Given the description of an element on the screen output the (x, y) to click on. 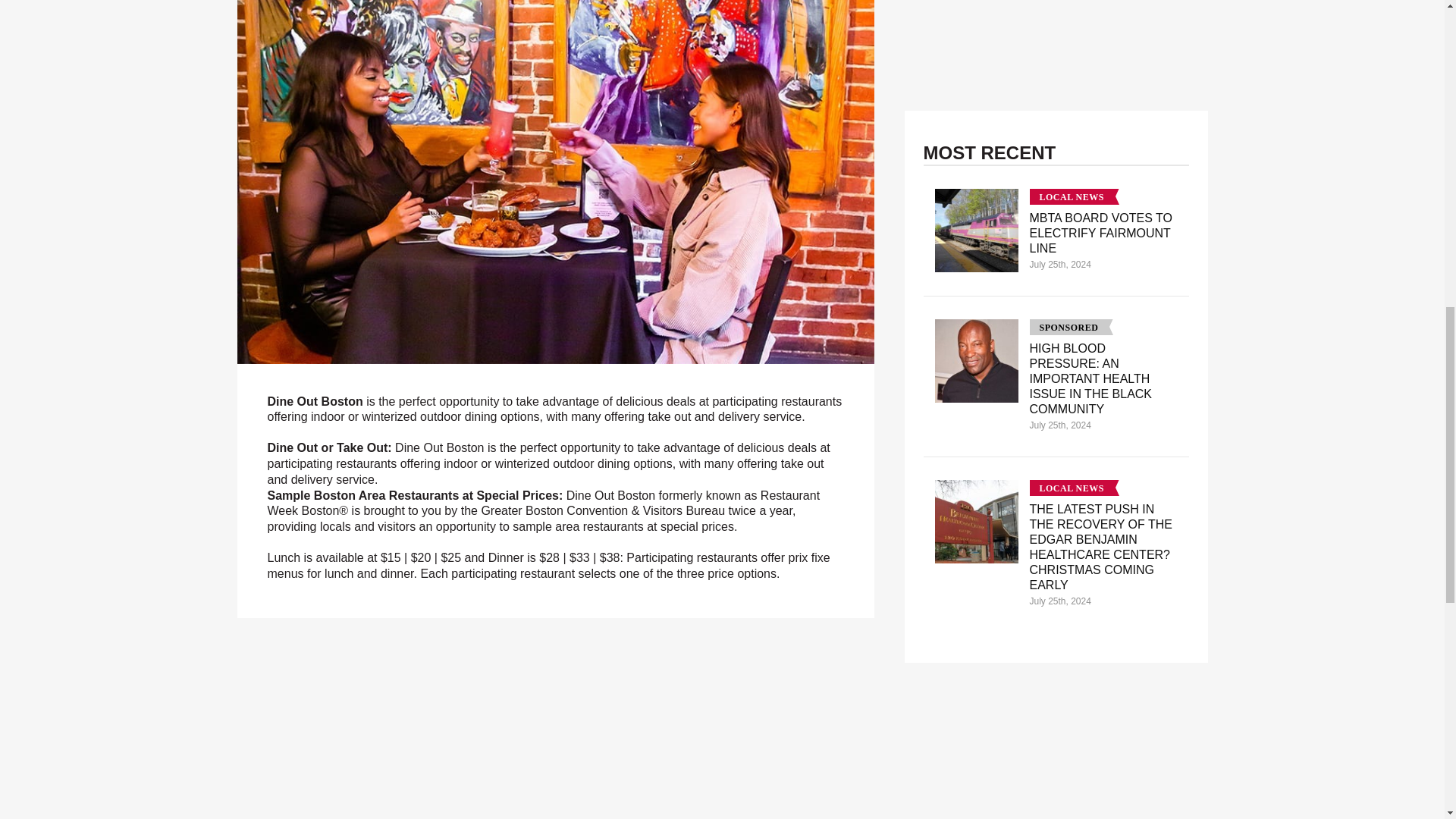
3rd party ad content (1055, 755)
